Given the description of an element on the screen output the (x, y) to click on. 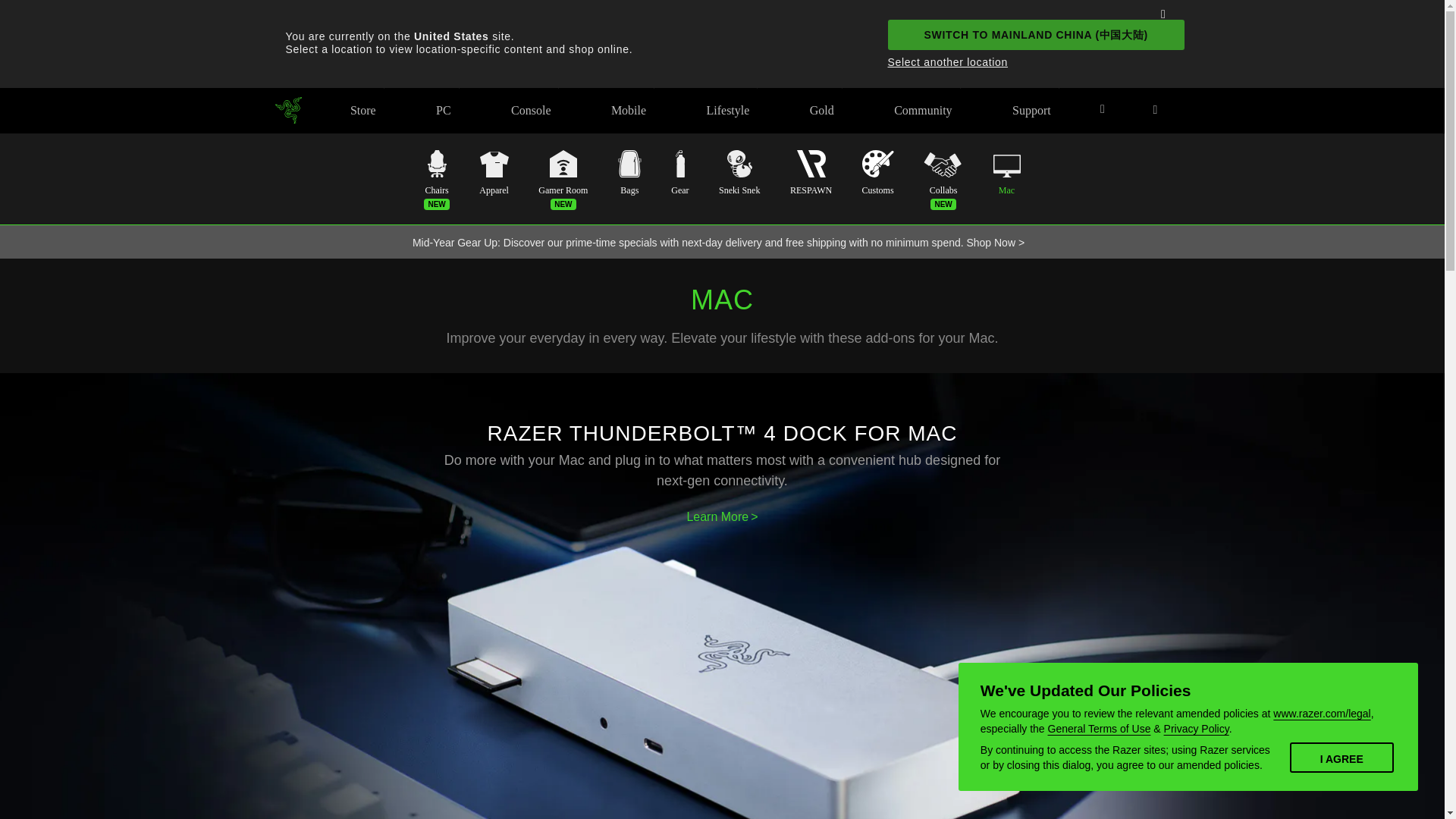
gamer room (563, 172)
respawn (810, 172)
collabs (942, 172)
customs (877, 172)
General Terms of Use (1099, 728)
Select another location (1024, 58)
chairs (435, 172)
sneki snek (739, 172)
Privacy Policy (1195, 728)
mac (1006, 172)
I AGREE (1341, 757)
Store (362, 109)
bags (629, 172)
apparel (493, 172)
gear (679, 172)
